Given the description of an element on the screen output the (x, y) to click on. 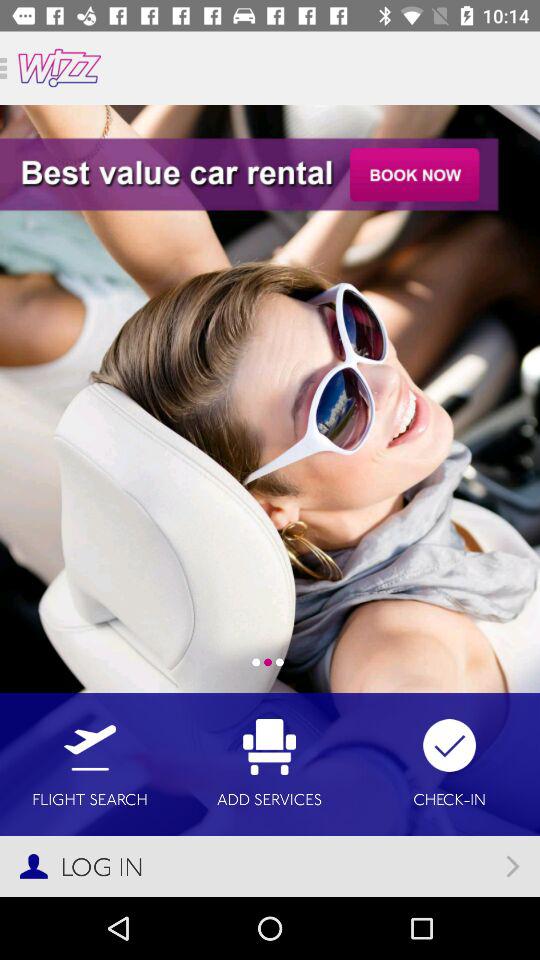
turn off the item above log in (90, 764)
